Given the description of an element on the screen output the (x, y) to click on. 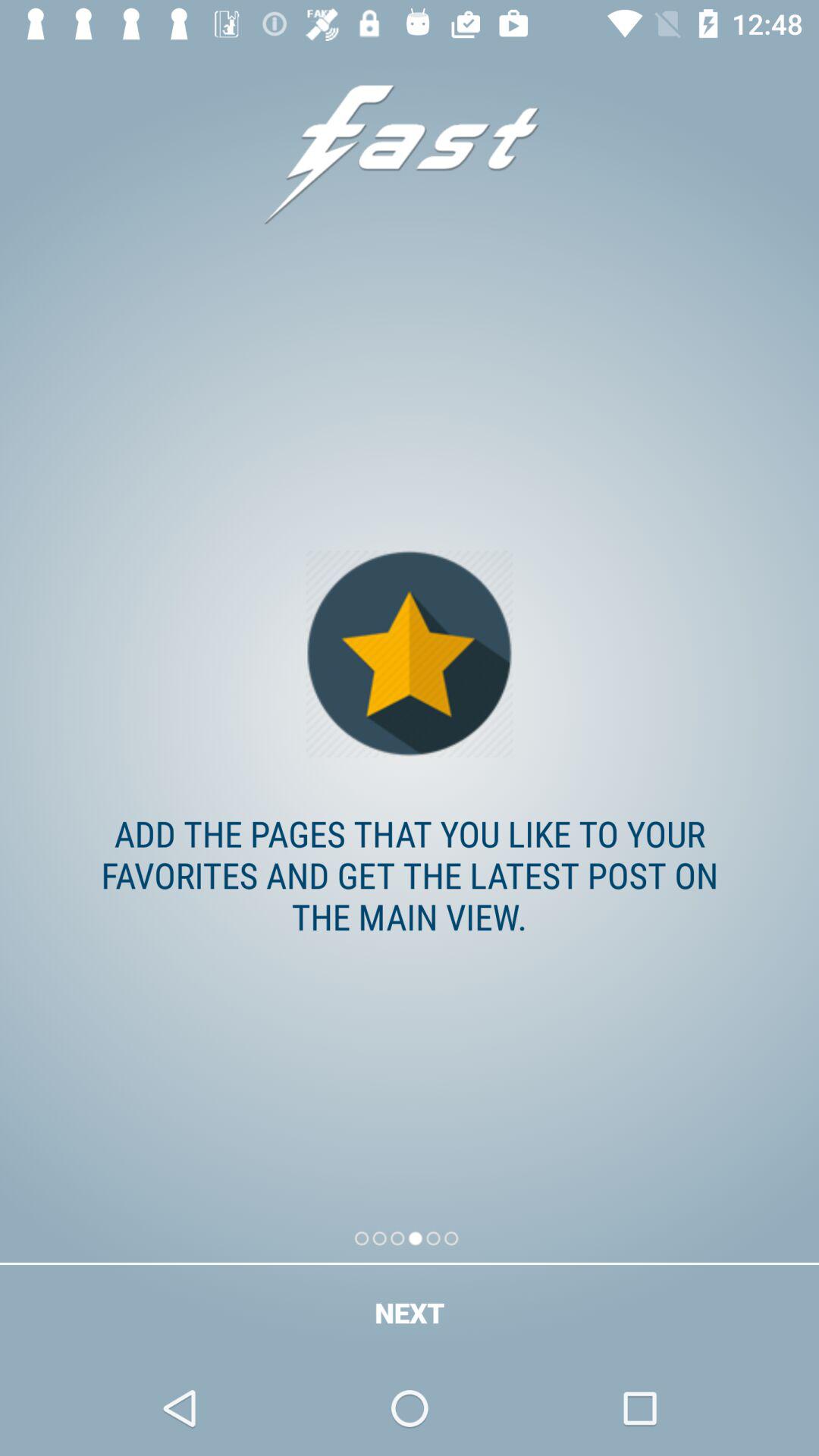
turn off the next icon (409, 1312)
